Given the description of an element on the screen output the (x, y) to click on. 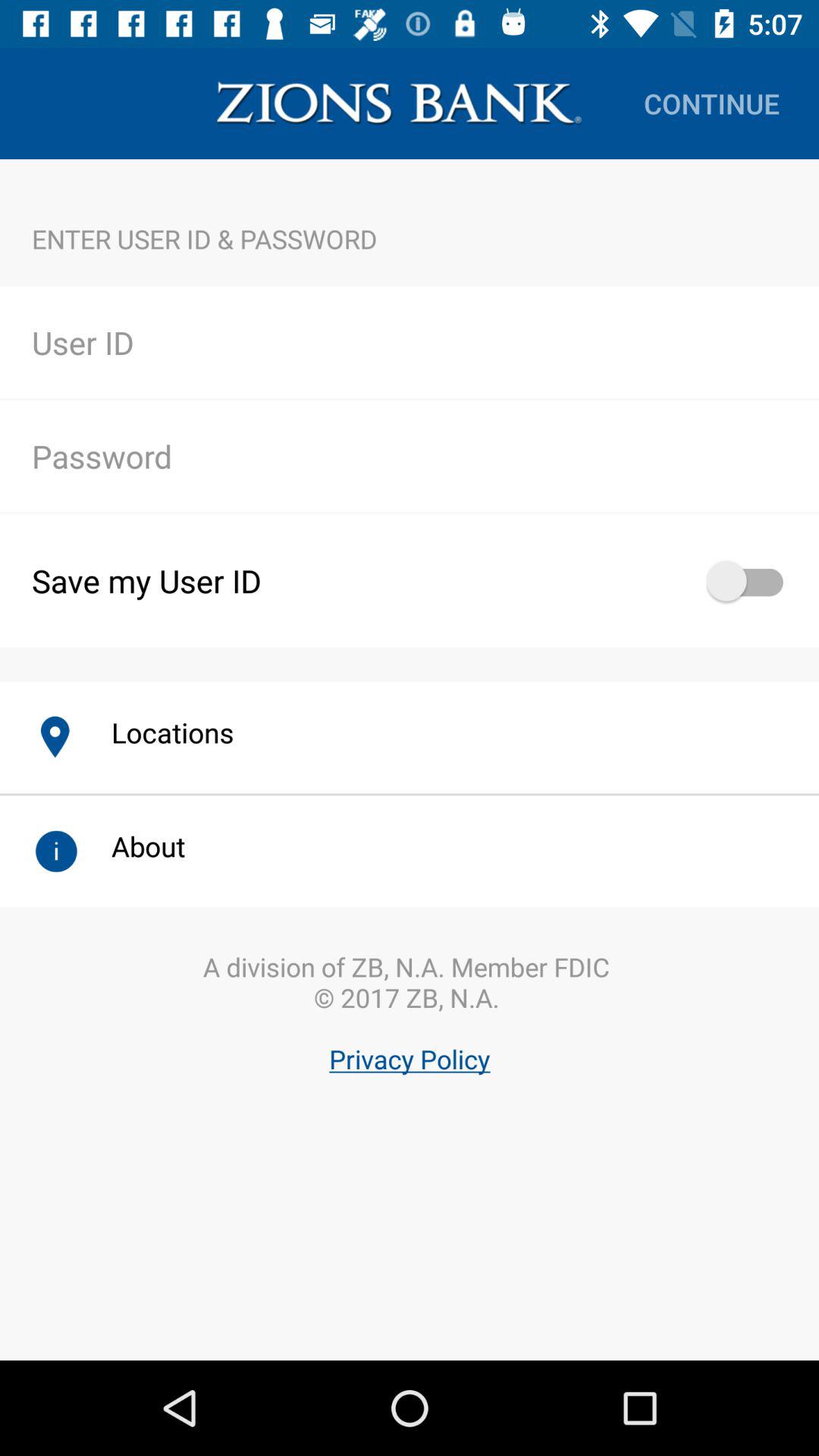
launch locations app (156, 732)
